Given the description of an element on the screen output the (x, y) to click on. 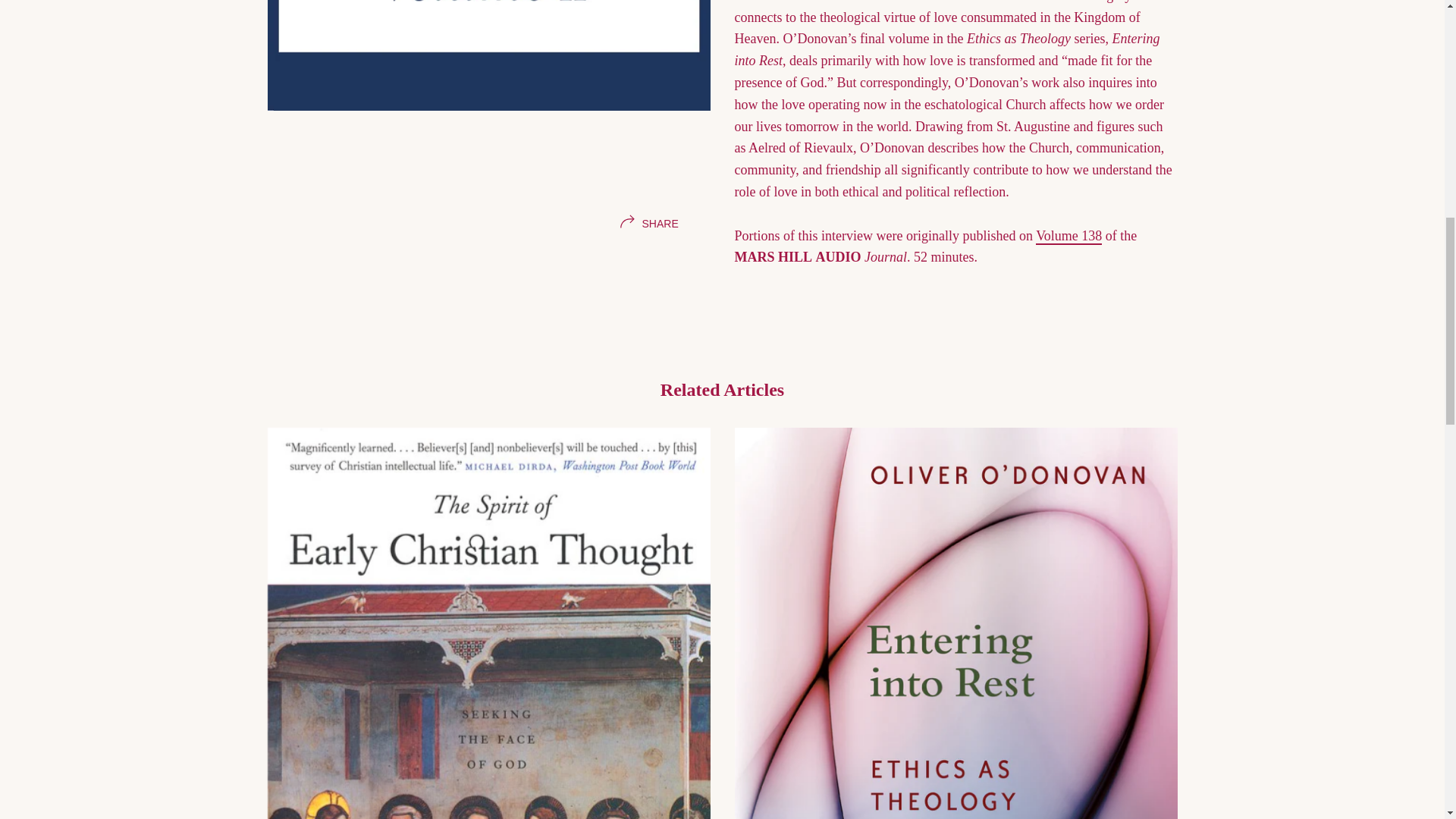
Volume 138 (1068, 116)
